Given the description of an element on the screen output the (x, y) to click on. 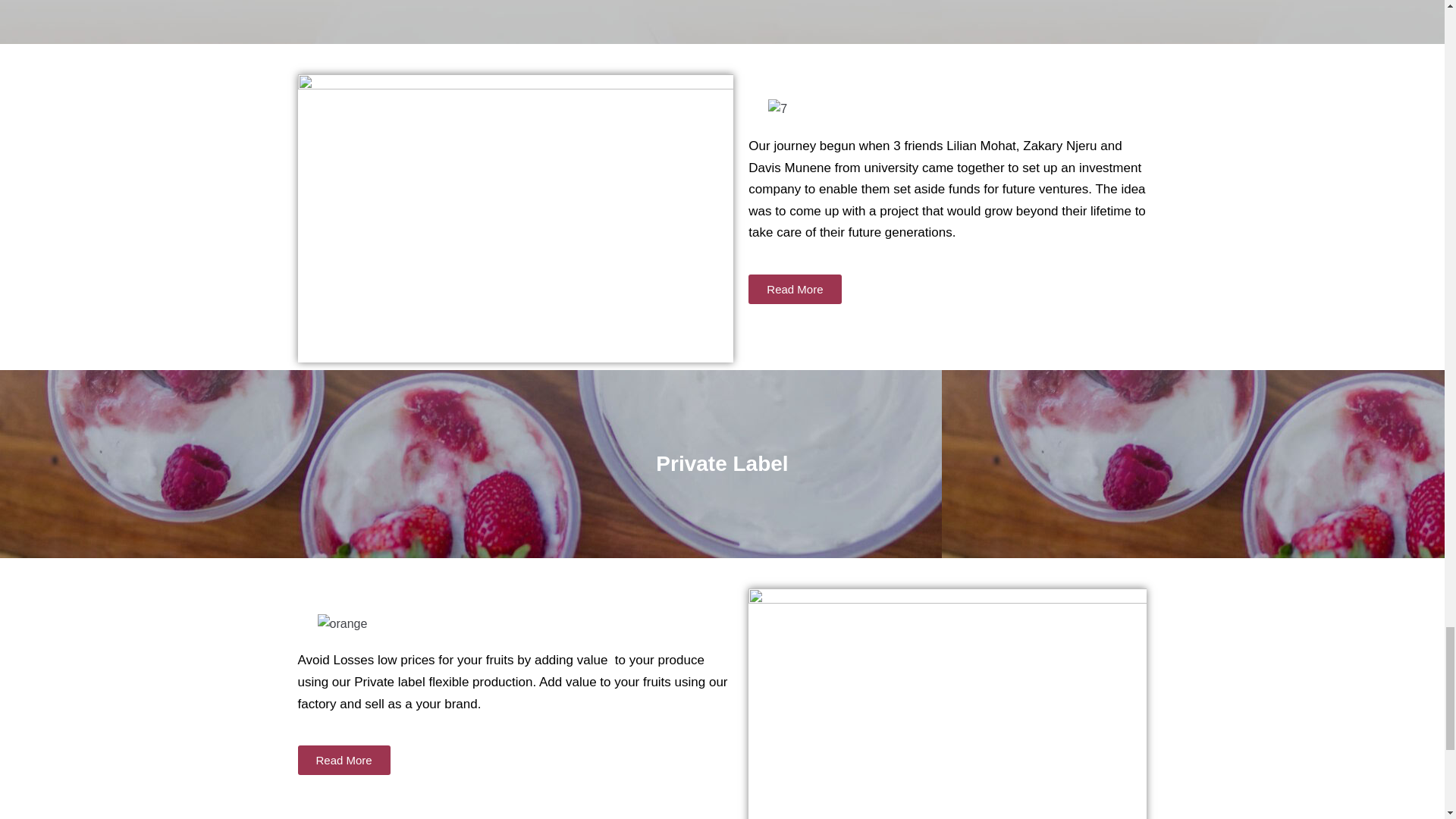
orange (341, 624)
7 (777, 109)
Read More (343, 759)
Read More (794, 288)
